Given the description of an element on the screen output the (x, y) to click on. 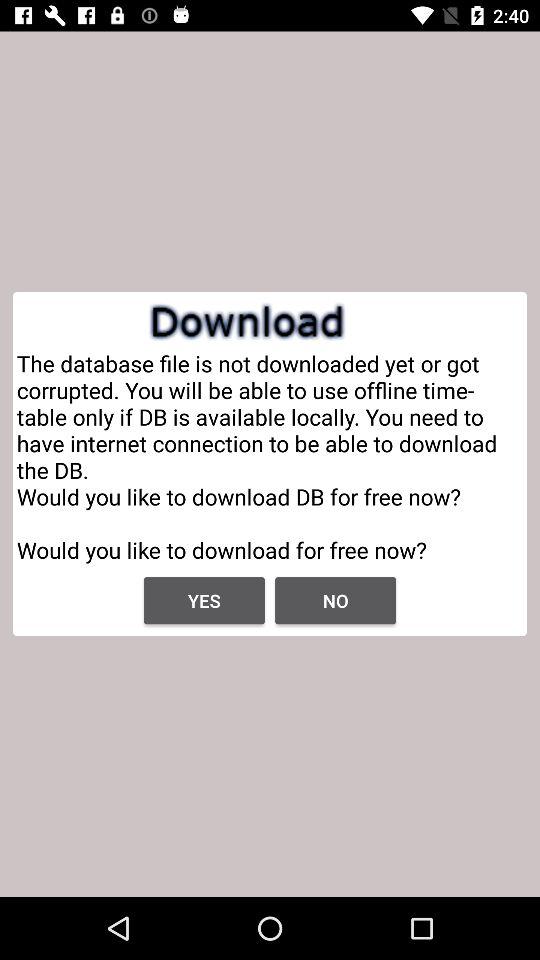
select item to the right of yes icon (335, 600)
